Given the description of an element on the screen output the (x, y) to click on. 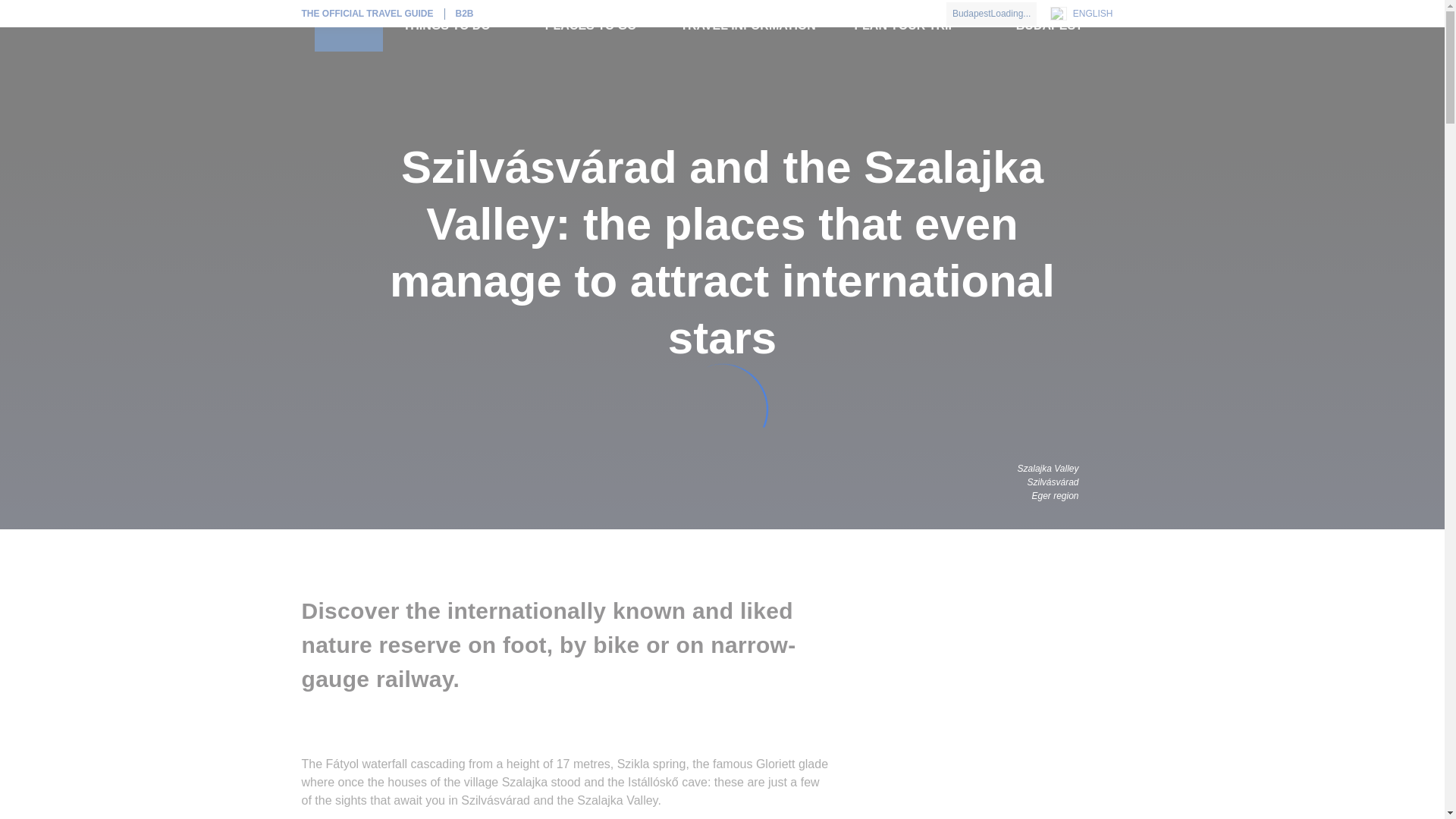
THINGS TO DO (454, 25)
B2B (464, 12)
ENGLISH (1089, 13)
THE OFFICIAL TRAVEL GUIDE (373, 12)
